Given the description of an element on the screen output the (x, y) to click on. 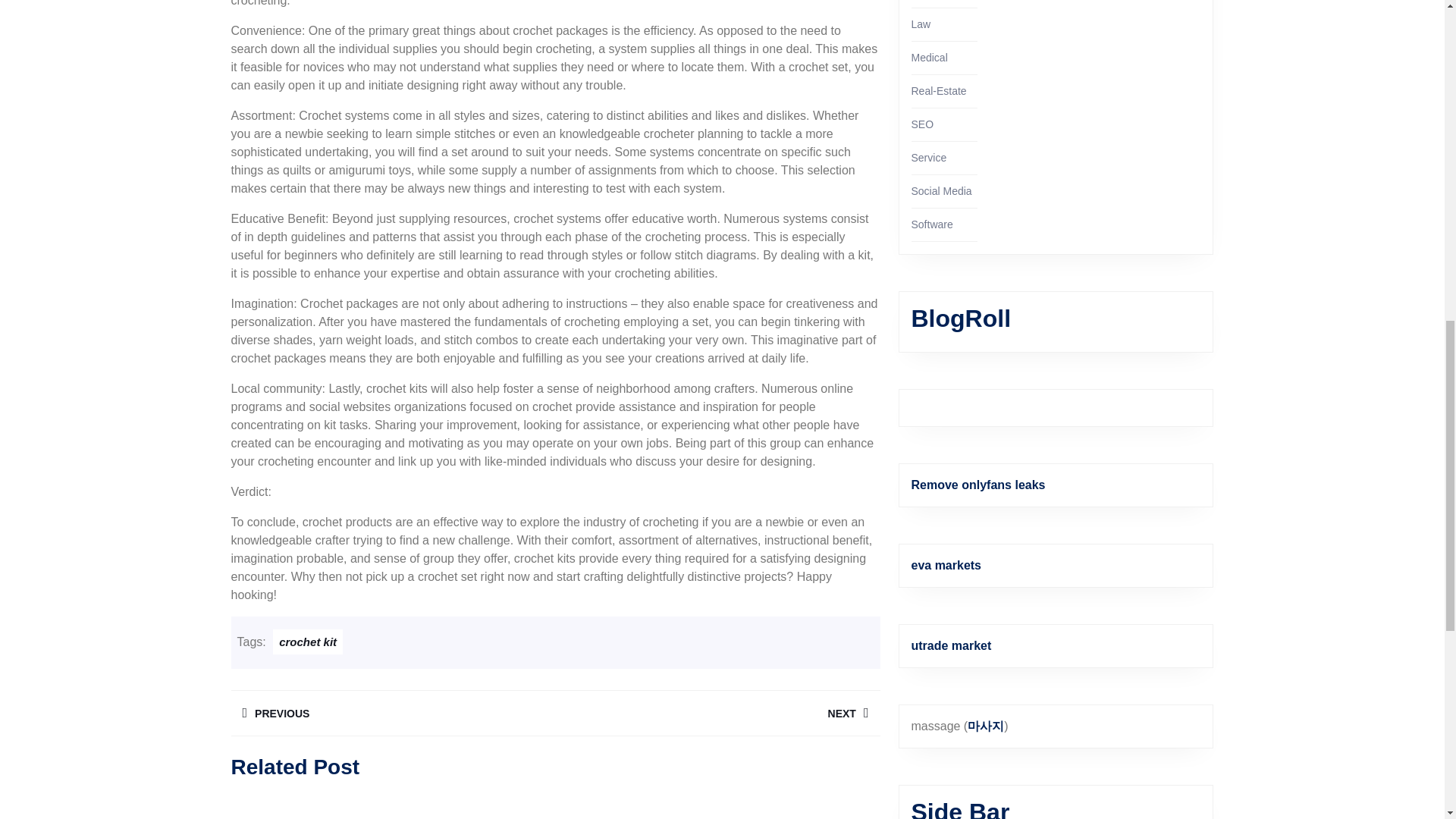
crochet kit (716, 713)
